Given the description of an element on the screen output the (x, y) to click on. 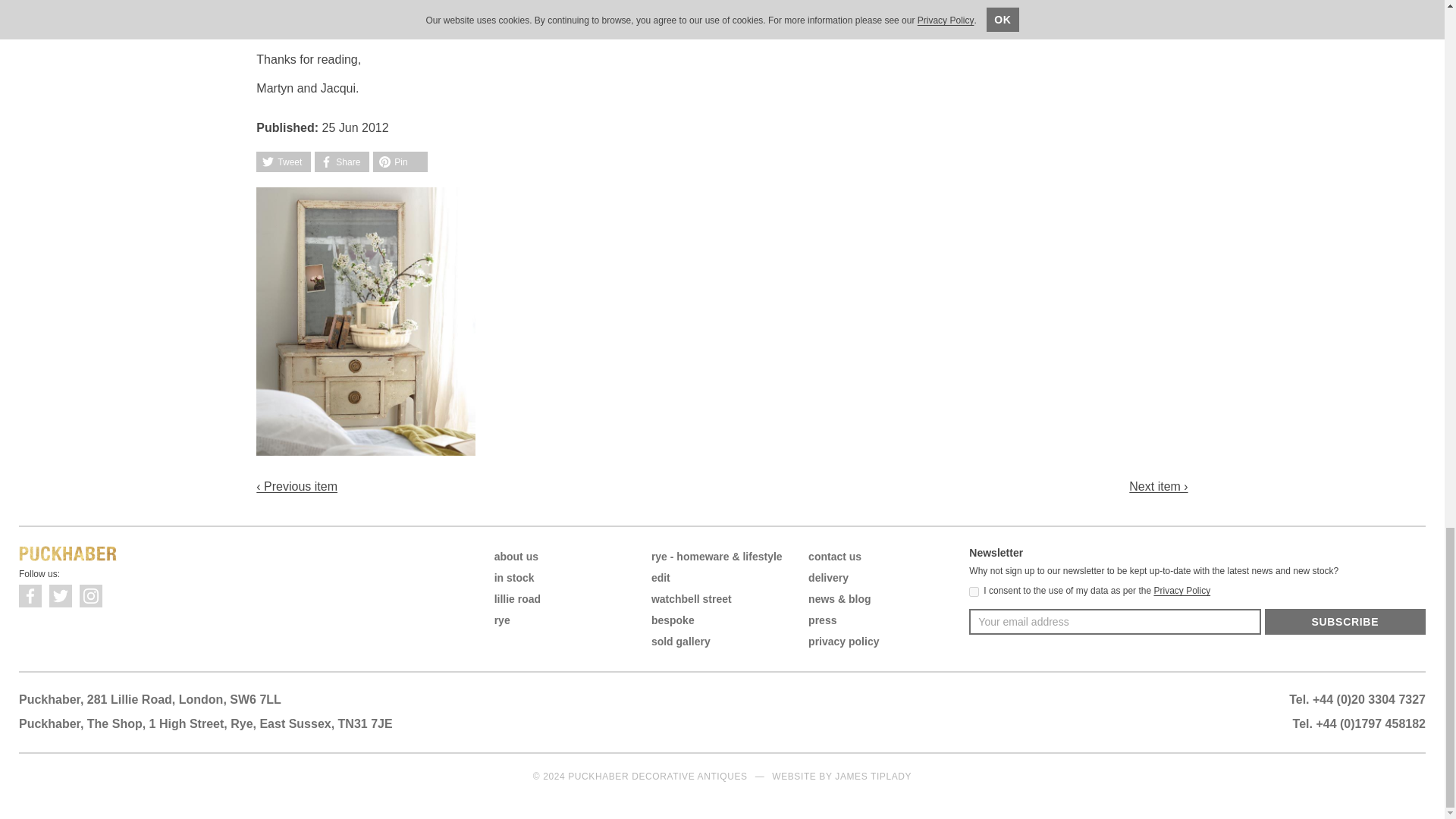
rye (503, 620)
Puckhaber Decorative Antiques (67, 553)
lillie road (517, 598)
about us (516, 556)
watchbell street (691, 598)
in stock (514, 577)
Tweet (283, 161)
Share (341, 161)
on (973, 592)
Pin (400, 161)
